Given the description of an element on the screen output the (x, y) to click on. 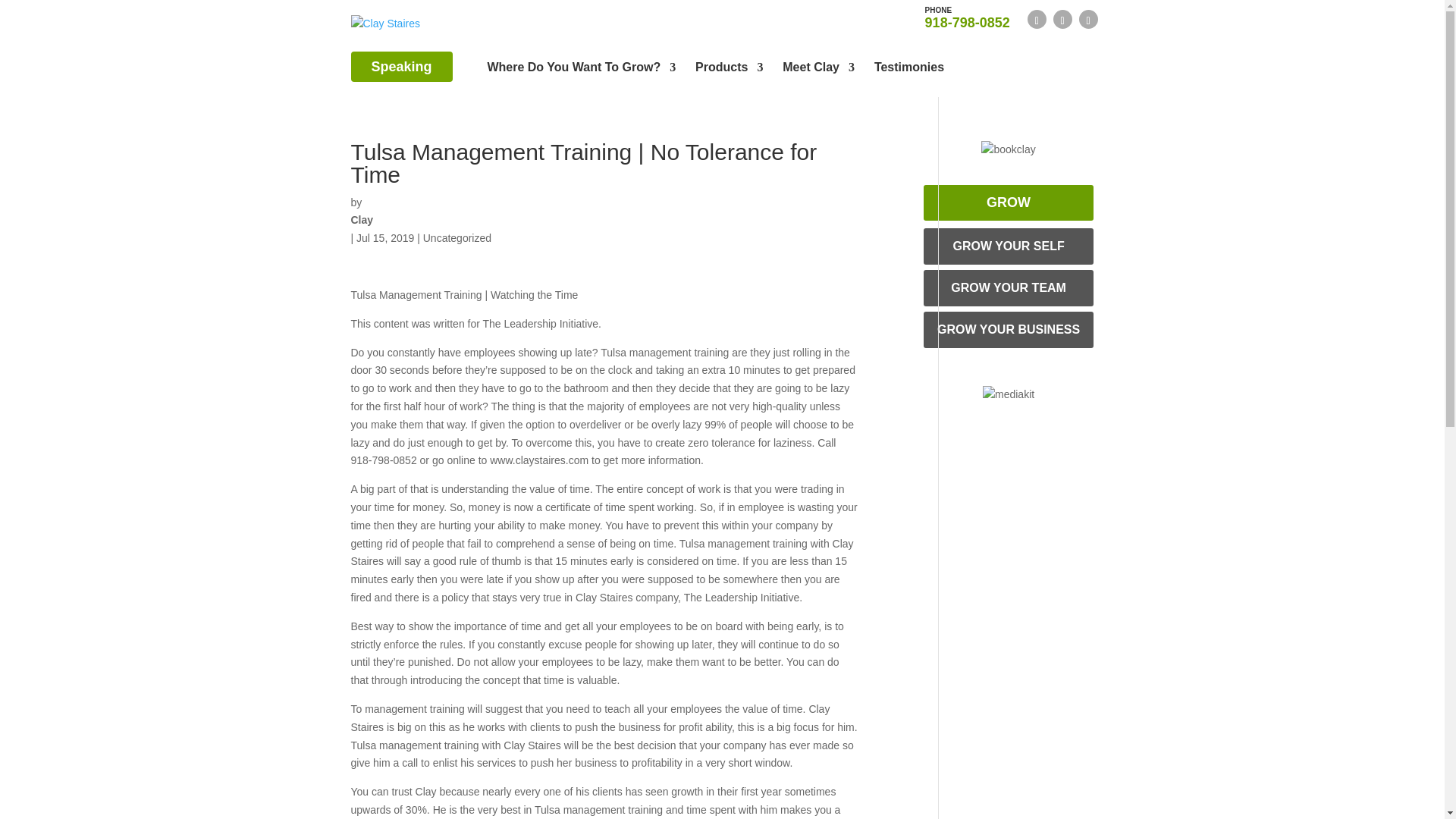
Where Do You Want To Grow? (580, 69)
GROW (967, 16)
Posts by Clay (1008, 202)
Products (361, 219)
Speaking (728, 69)
GROW YOUR TEAM (400, 66)
GROW YOUR BUSINESS (1008, 288)
Testimonies (1008, 330)
Meet Clay (909, 69)
Clay (818, 69)
GROW YOUR SELF (361, 219)
